Given the description of an element on the screen output the (x, y) to click on. 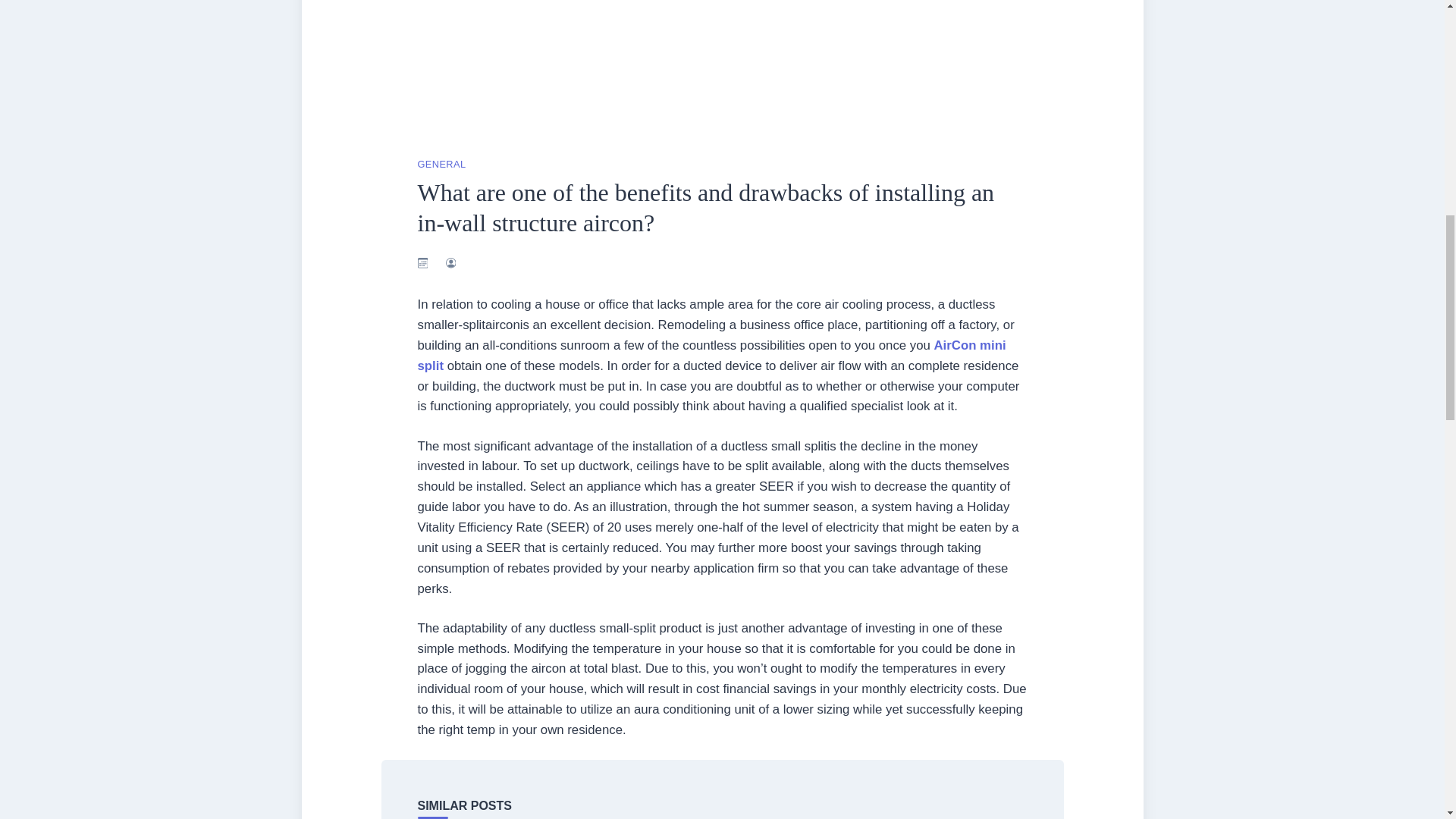
AirCon mini split (711, 355)
GENERAL (440, 163)
Go to Top (1419, 48)
